Given the description of an element on the screen output the (x, y) to click on. 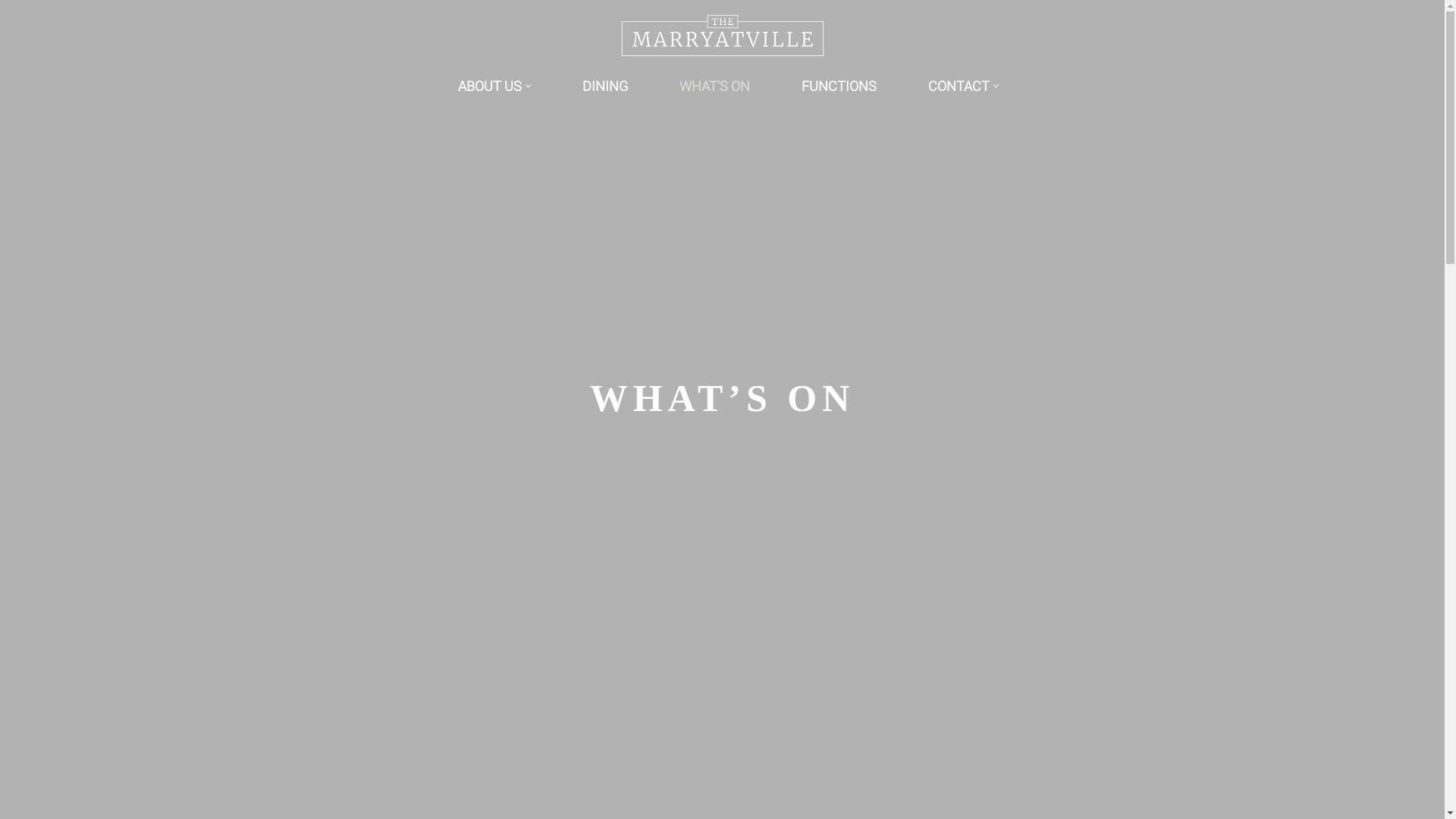
Skip to content Element type: text (11, 31)
ABOUT US Element type: text (489, 86)
FUNCTIONS Element type: text (838, 86)
CONTACT Element type: text (958, 86)
DINING Element type: text (604, 86)
